Given the description of an element on the screen output the (x, y) to click on. 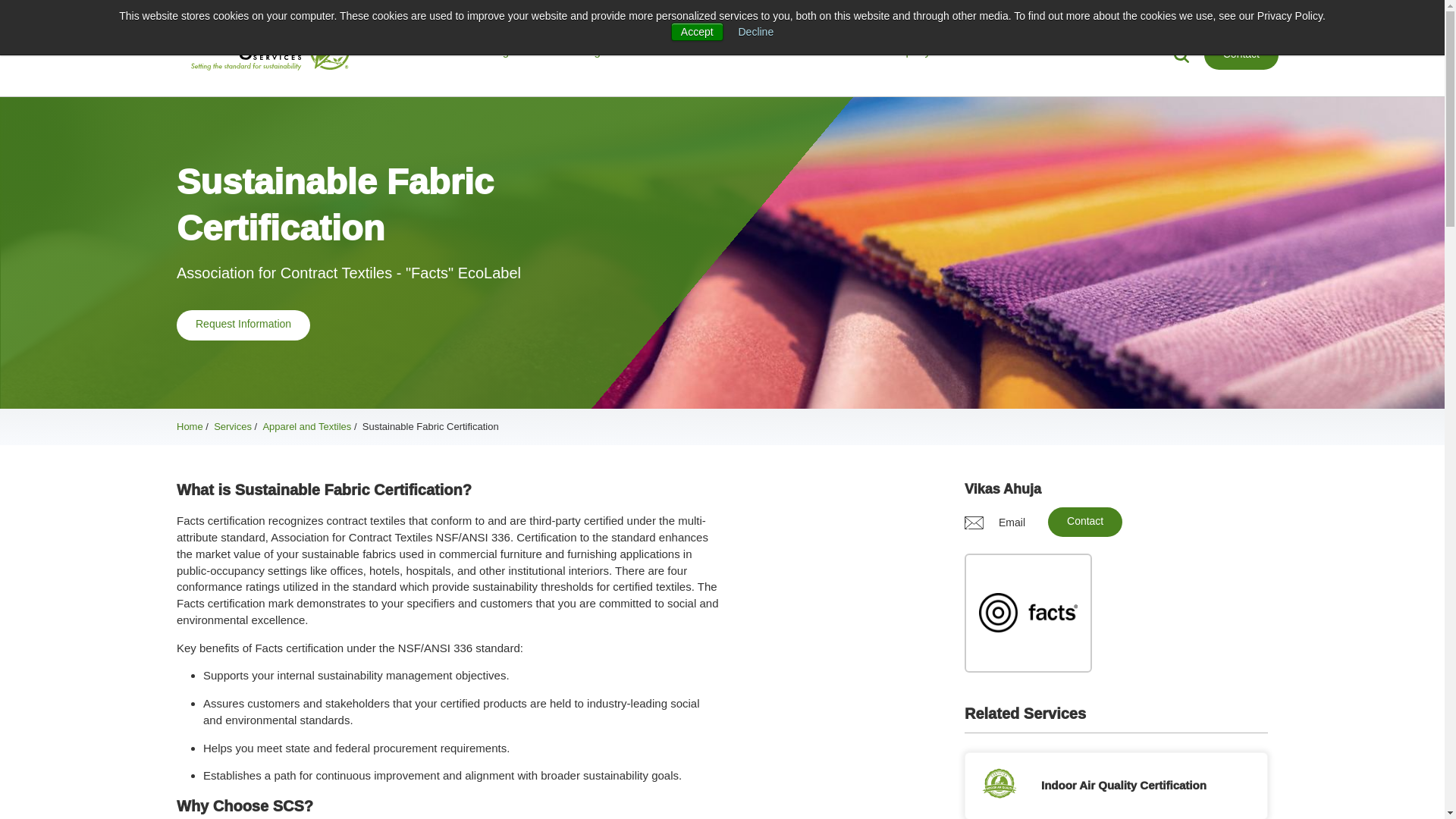
Accept (697, 31)
Decline (756, 31)
Services (406, 51)
Contact (1241, 54)
